Given the description of an element on the screen output the (x, y) to click on. 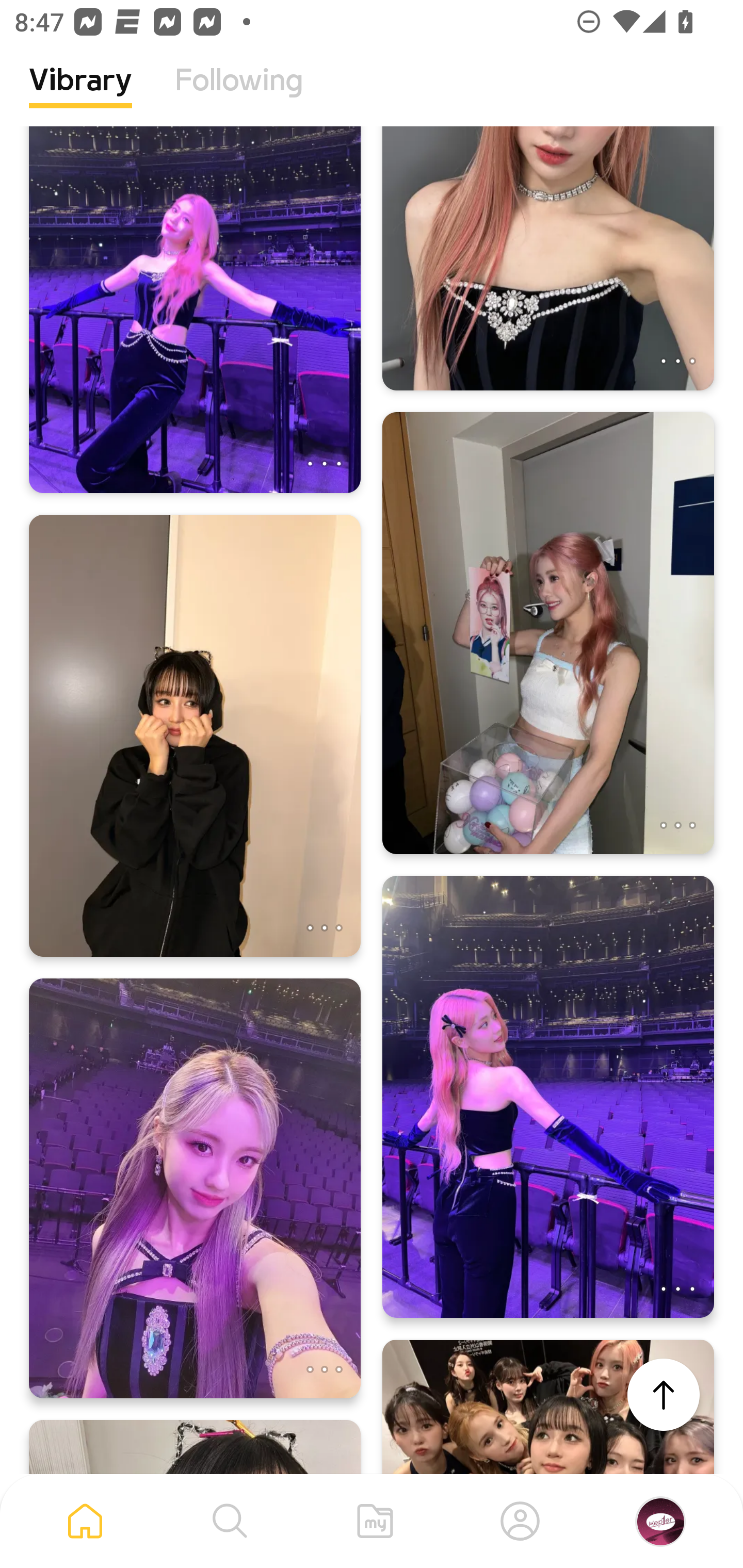
Vibrary (80, 95)
Following (239, 95)
